Given the description of an element on the screen output the (x, y) to click on. 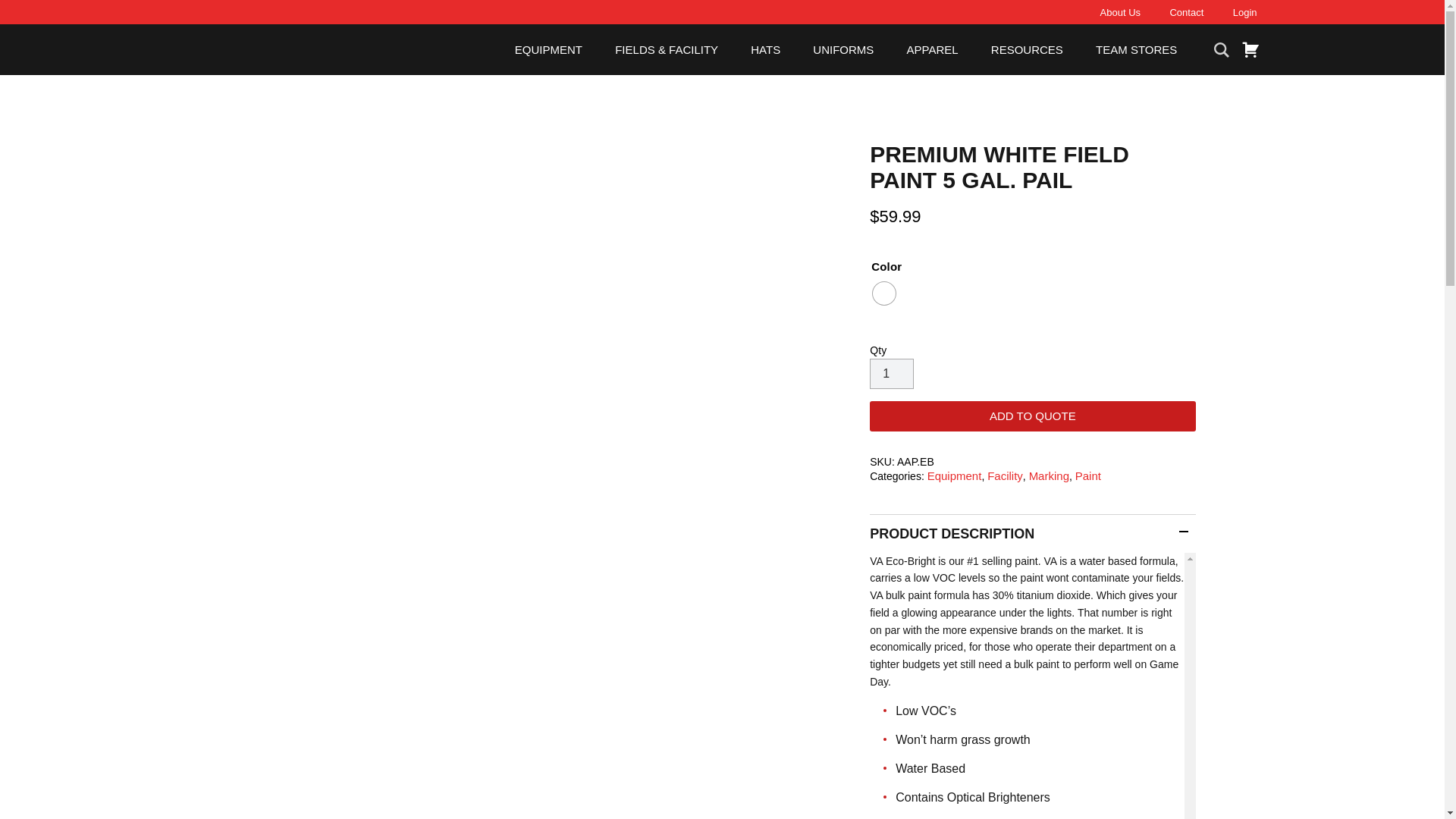
Qty (891, 373)
Login (1245, 12)
View Quote (1248, 48)
About Us (1120, 12)
Contact (1186, 12)
EQUIPMENT (548, 49)
1 (891, 373)
HATS (765, 49)
Bright White (883, 292)
